Given the description of an element on the screen output the (x, y) to click on. 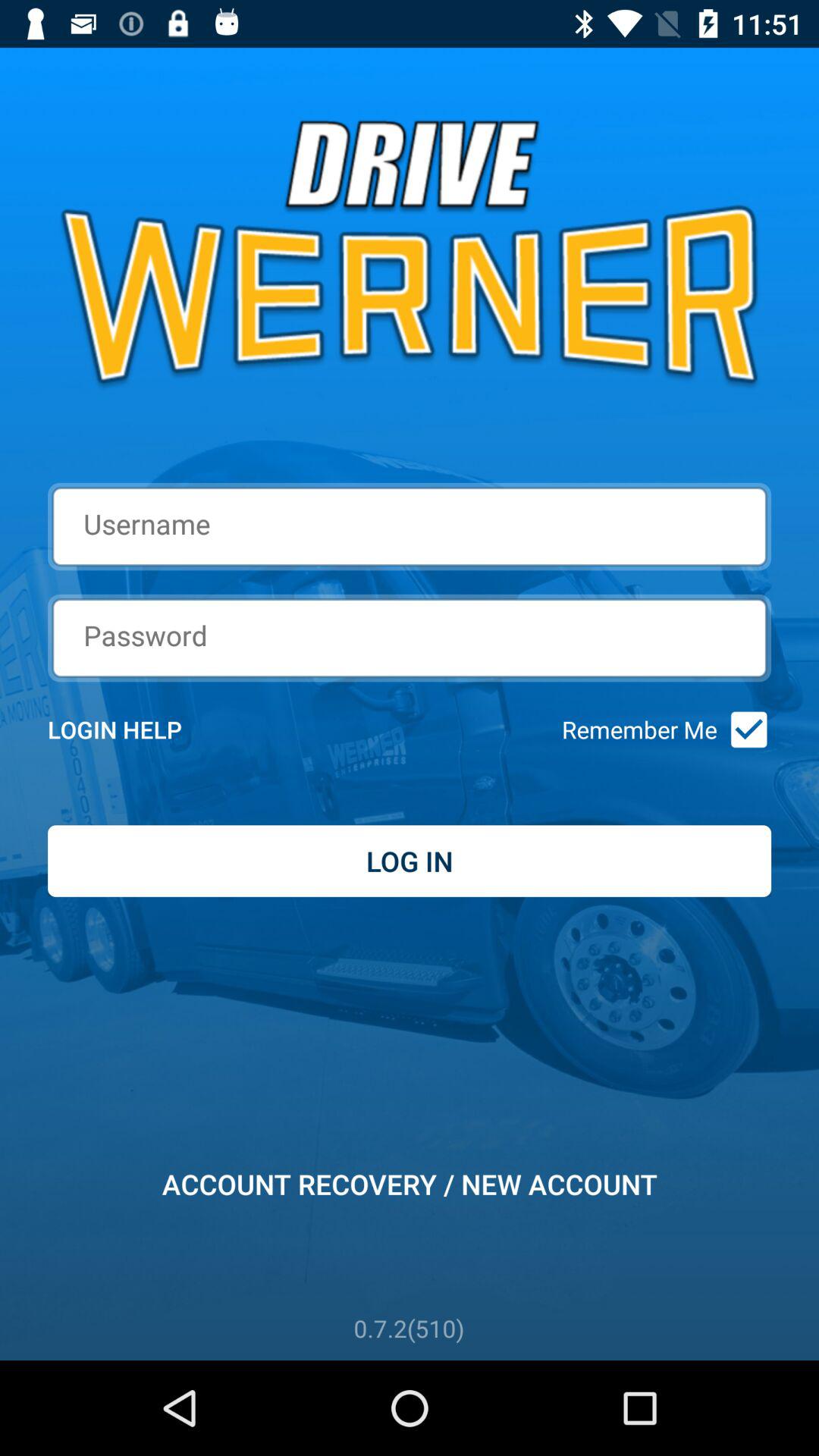
choose the icon above login help (409, 637)
